Given the description of an element on the screen output the (x, y) to click on. 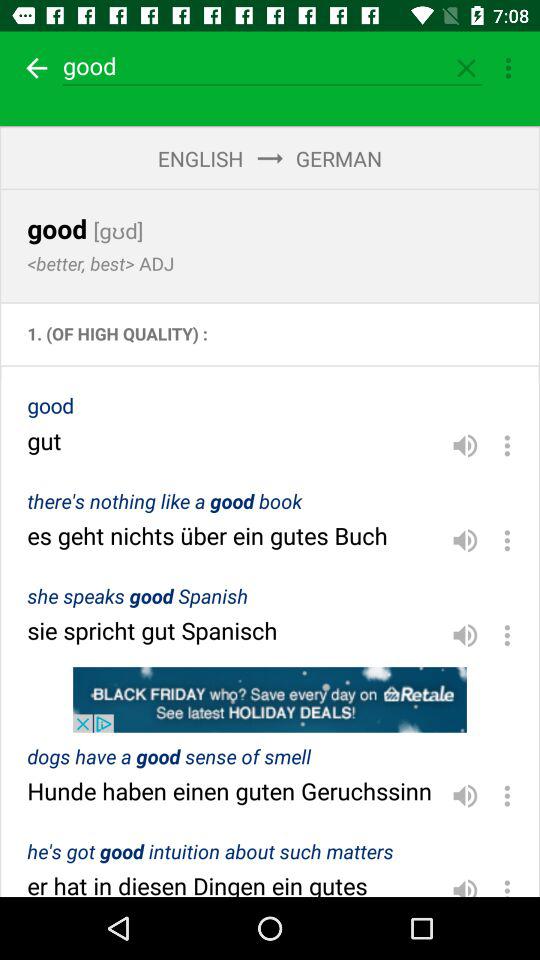
settings (507, 796)
